Given the description of an element on the screen output the (x, y) to click on. 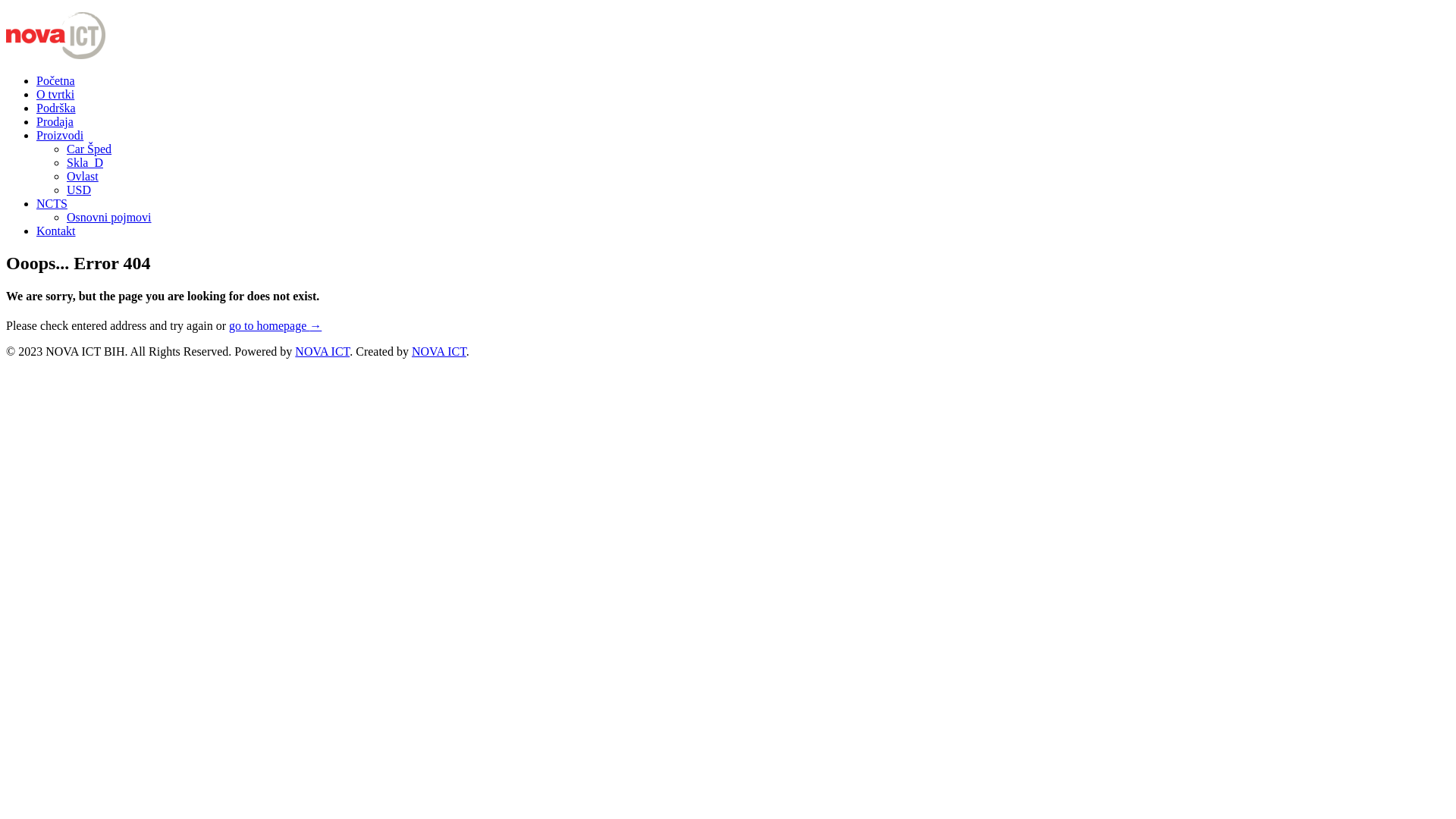
Ovlast Element type: text (82, 175)
Proizvodi Element type: text (59, 134)
NCTS Element type: text (51, 203)
O tvrtki Element type: text (55, 93)
NOVA ICT Element type: text (438, 351)
Osnovni pojmovi Element type: text (108, 216)
NOVA ICT Element type: text (321, 351)
USD Element type: text (78, 189)
Skla_D Element type: text (84, 162)
Kontakt Element type: text (55, 230)
Prodaja Element type: text (54, 121)
NOVA ICT BIH Element type: hover (55, 54)
